Given the description of an element on the screen output the (x, y) to click on. 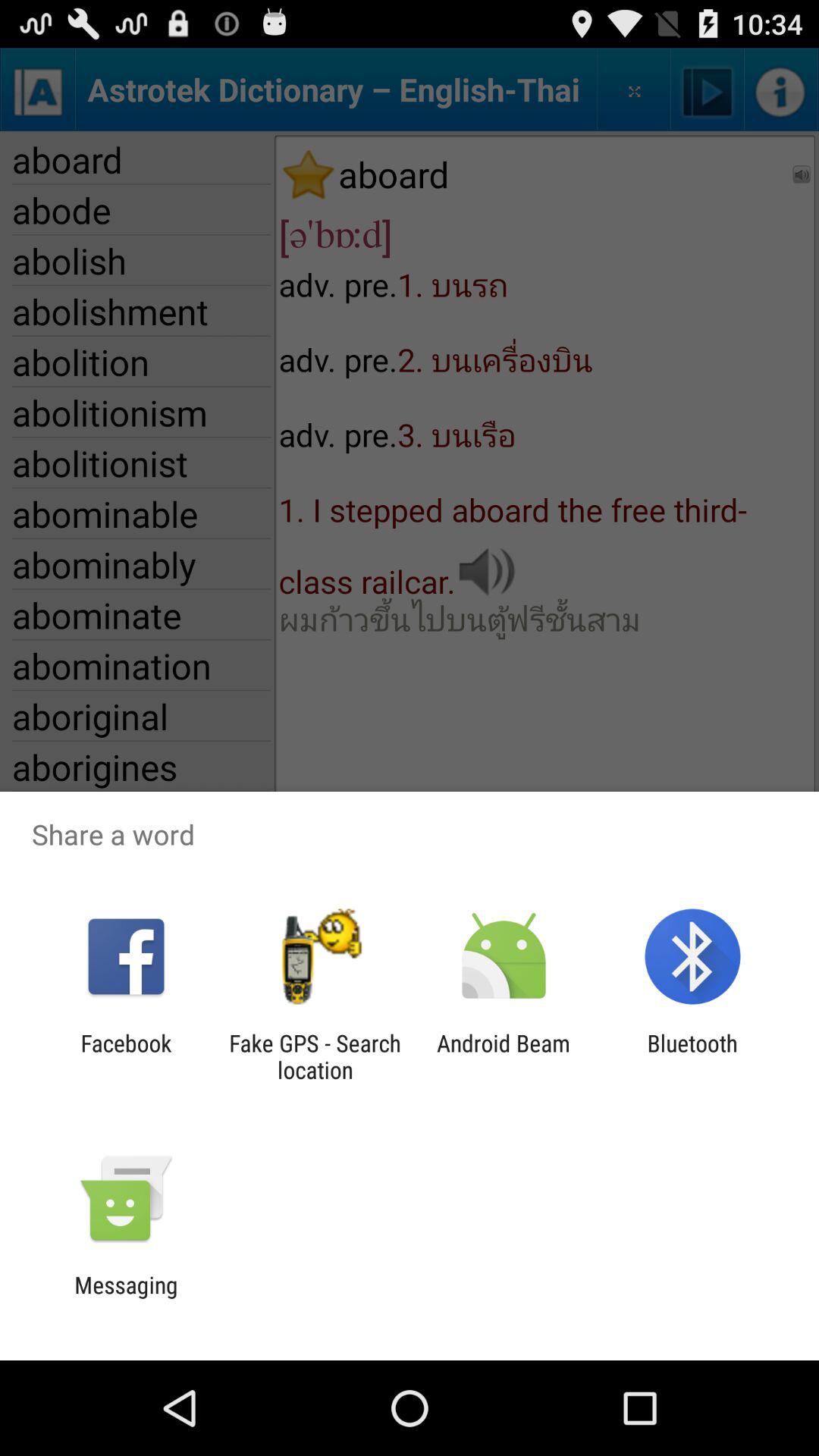
launch the app to the right of android beam app (692, 1056)
